Given the description of an element on the screen output the (x, y) to click on. 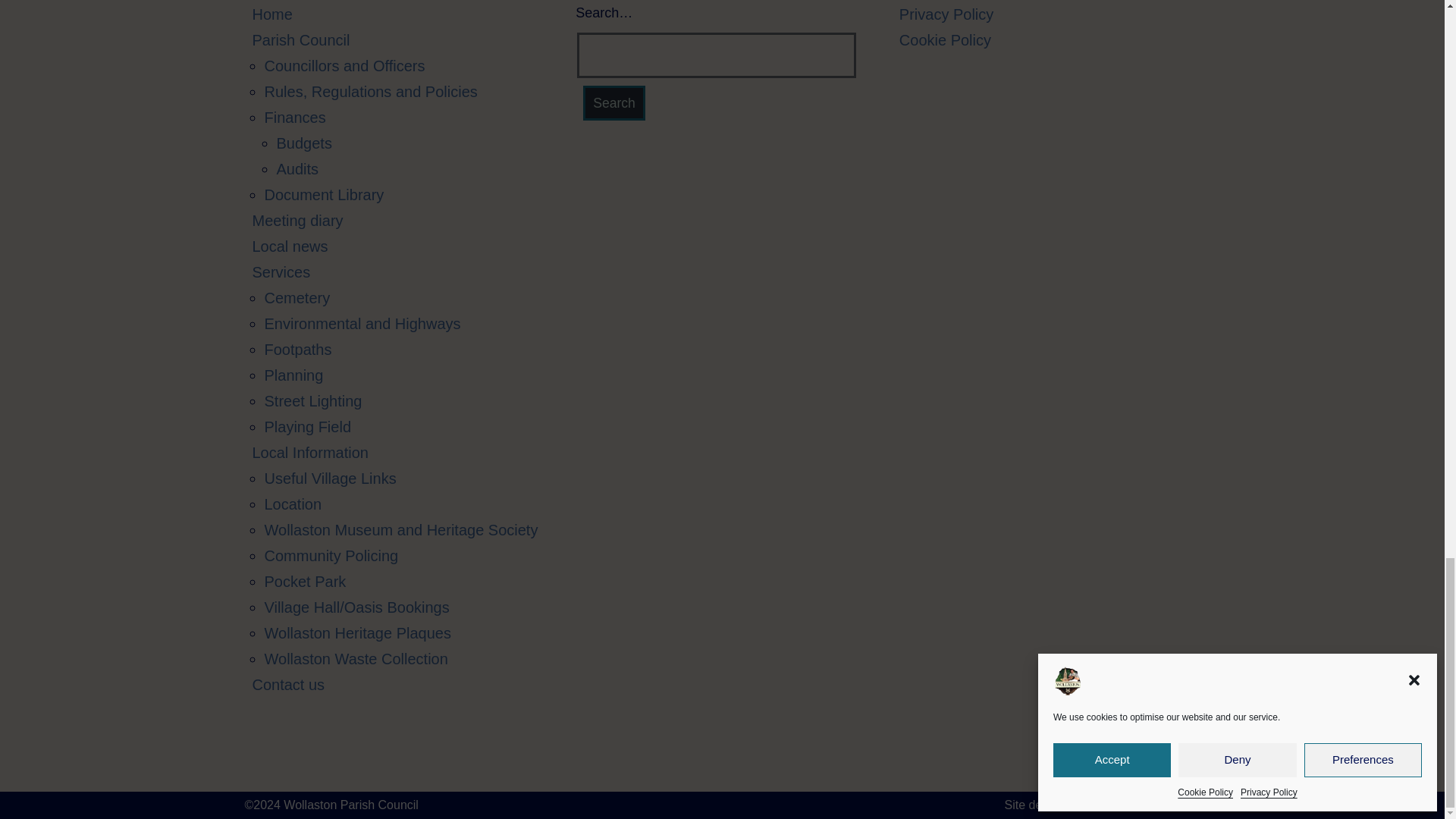
Search (614, 102)
Search (614, 102)
